Given the description of an element on the screen output the (x, y) to click on. 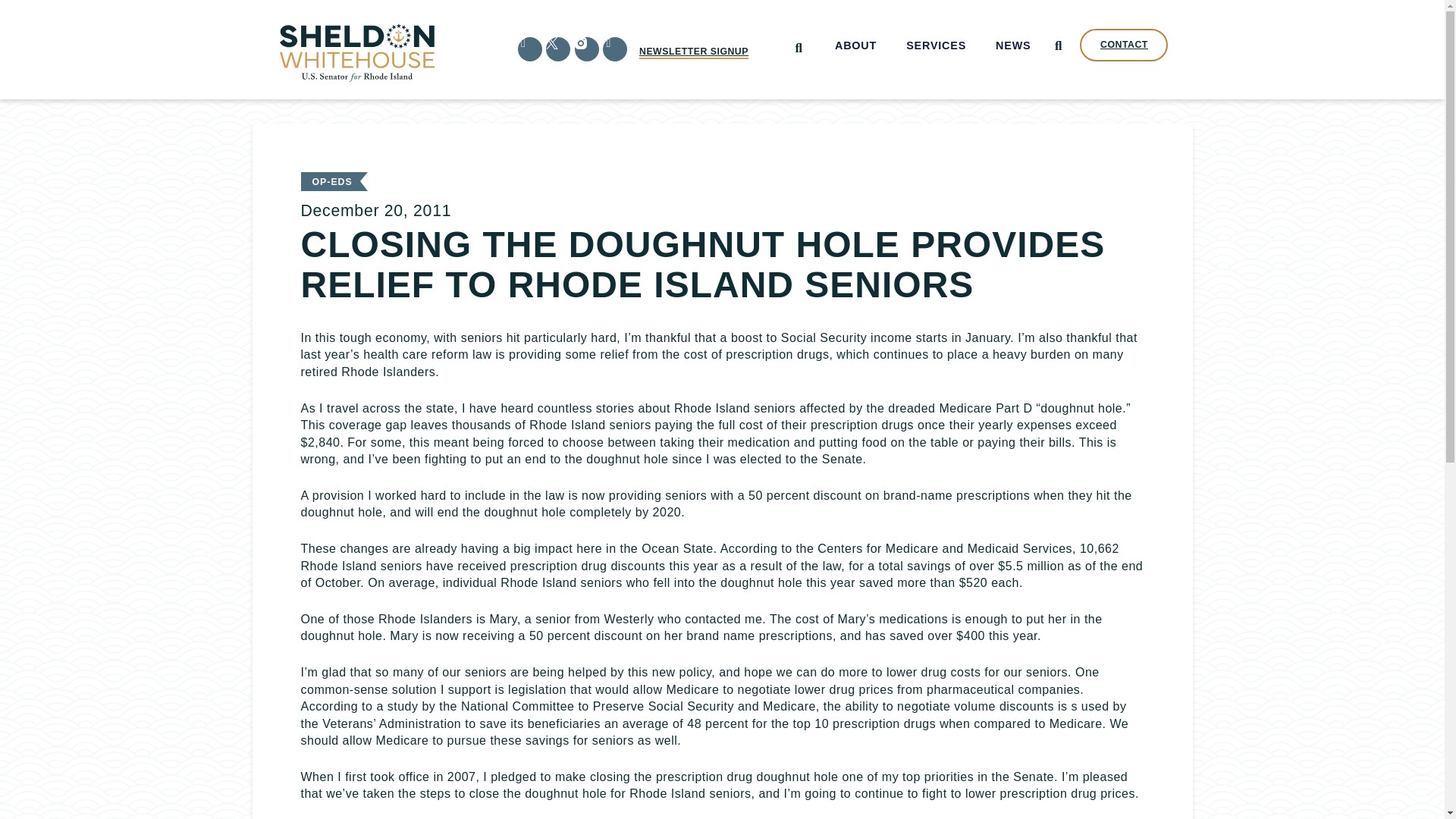
NEWS (1013, 46)
NEWSLETTER SIGNUP (693, 51)
CONTACT (1123, 44)
ABOUT (855, 46)
OP-EDS (332, 181)
SERVICES (936, 46)
